Given the description of an element on the screen output the (x, y) to click on. 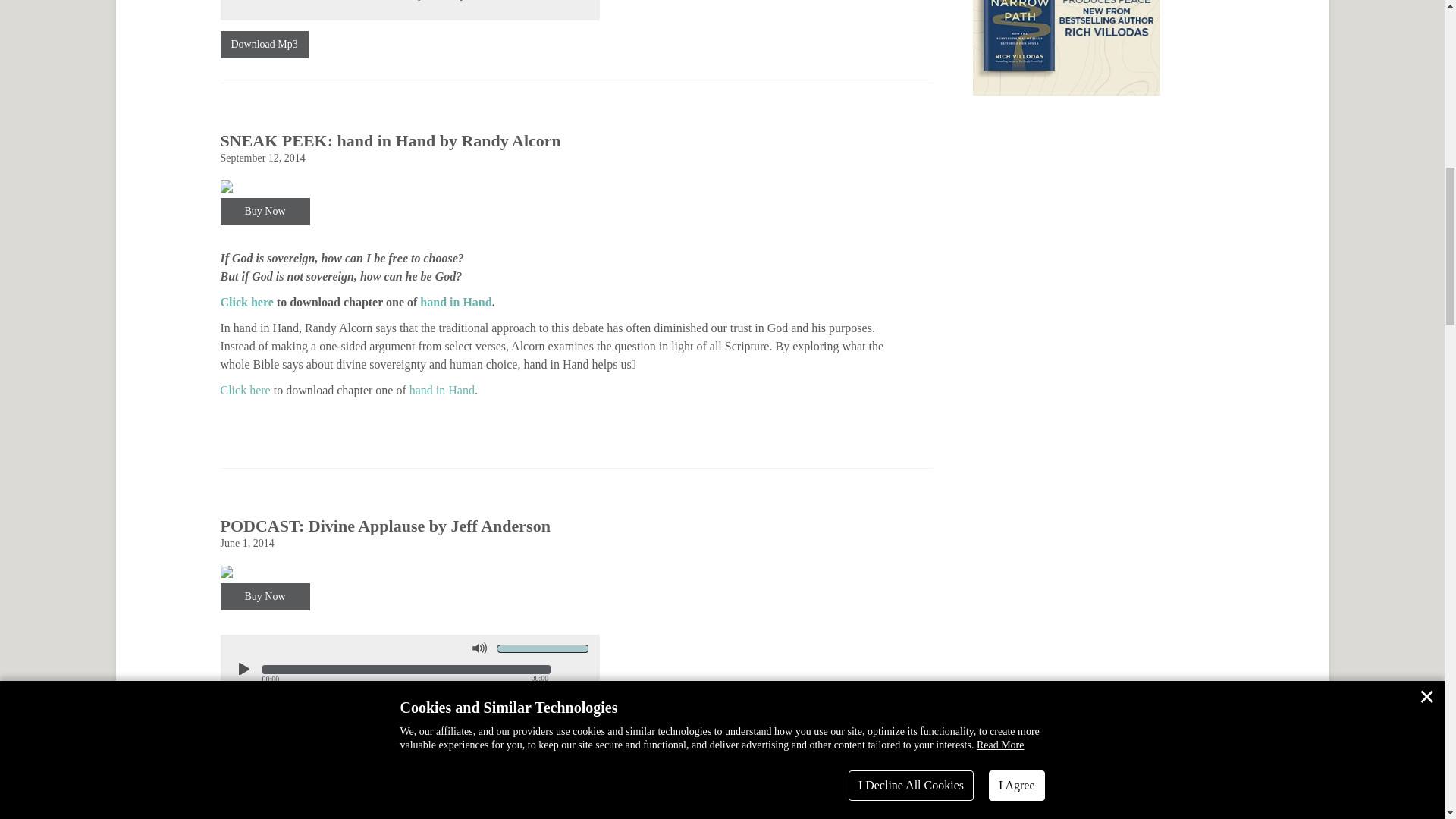
Mute (479, 648)
Play (242, 668)
